Given the description of an element on the screen output the (x, y) to click on. 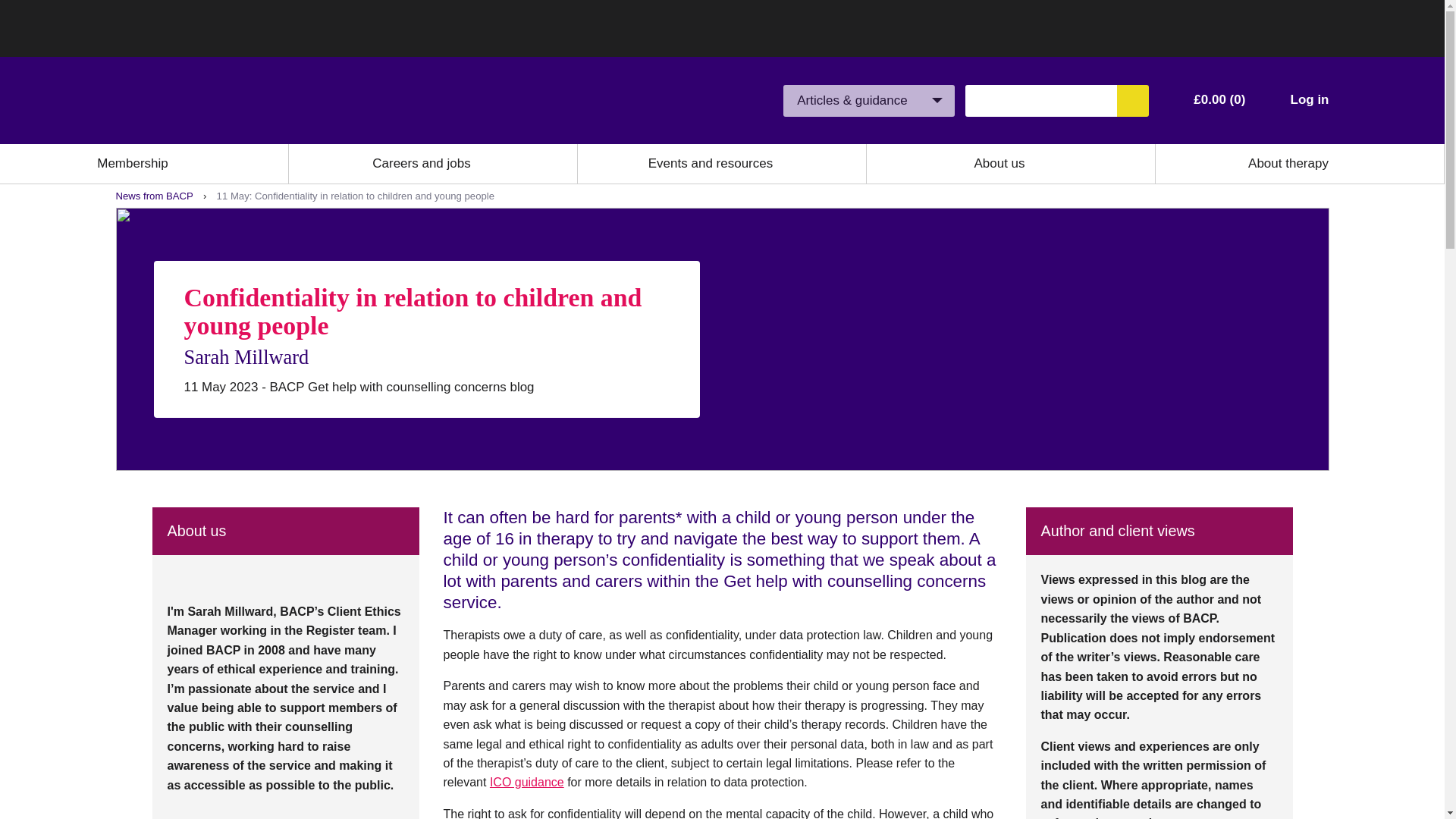
Search the BACP website (1132, 101)
Membership (132, 163)
Log in (1309, 99)
Careers and jobs (421, 163)
Events and resources (710, 163)
